Given the description of an element on the screen output the (x, y) to click on. 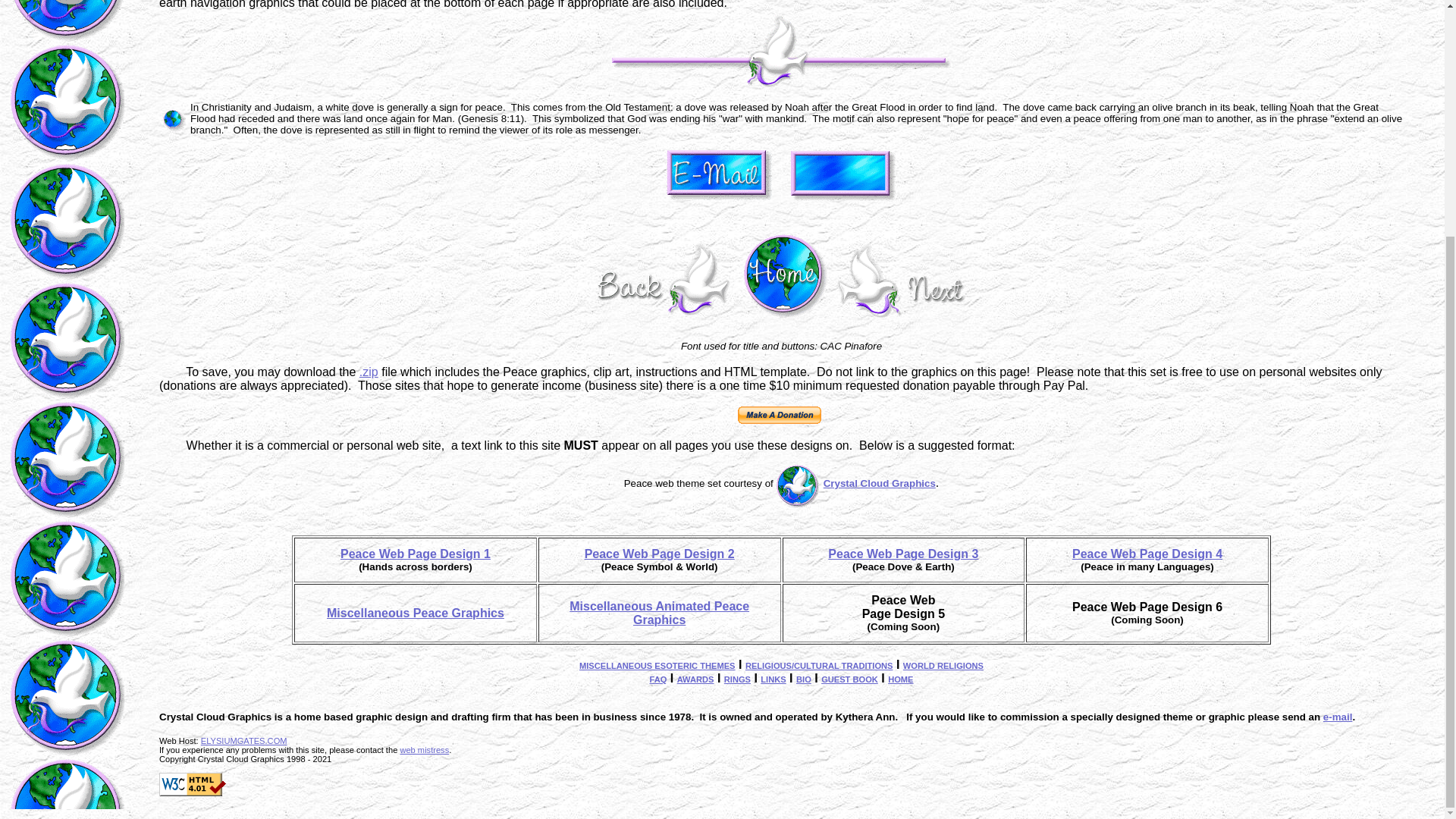
LINKS (773, 677)
MISCELLANEOUS ESOTERIC THEMES (657, 664)
.zip (368, 371)
e-mail (1337, 716)
GUEST BOOK (849, 677)
Peace Web Page Design 2 (660, 553)
Peace Web Page Design 4 (1147, 553)
ELYSIUMGATES.COM (243, 740)
Miscellaneous Peace Graphics (414, 612)
BIO (803, 677)
web mistress (423, 749)
HOME (900, 677)
FAQ (657, 677)
AWARDS (695, 677)
Crystal Cloud Graphics (880, 481)
